Given the description of an element on the screen output the (x, y) to click on. 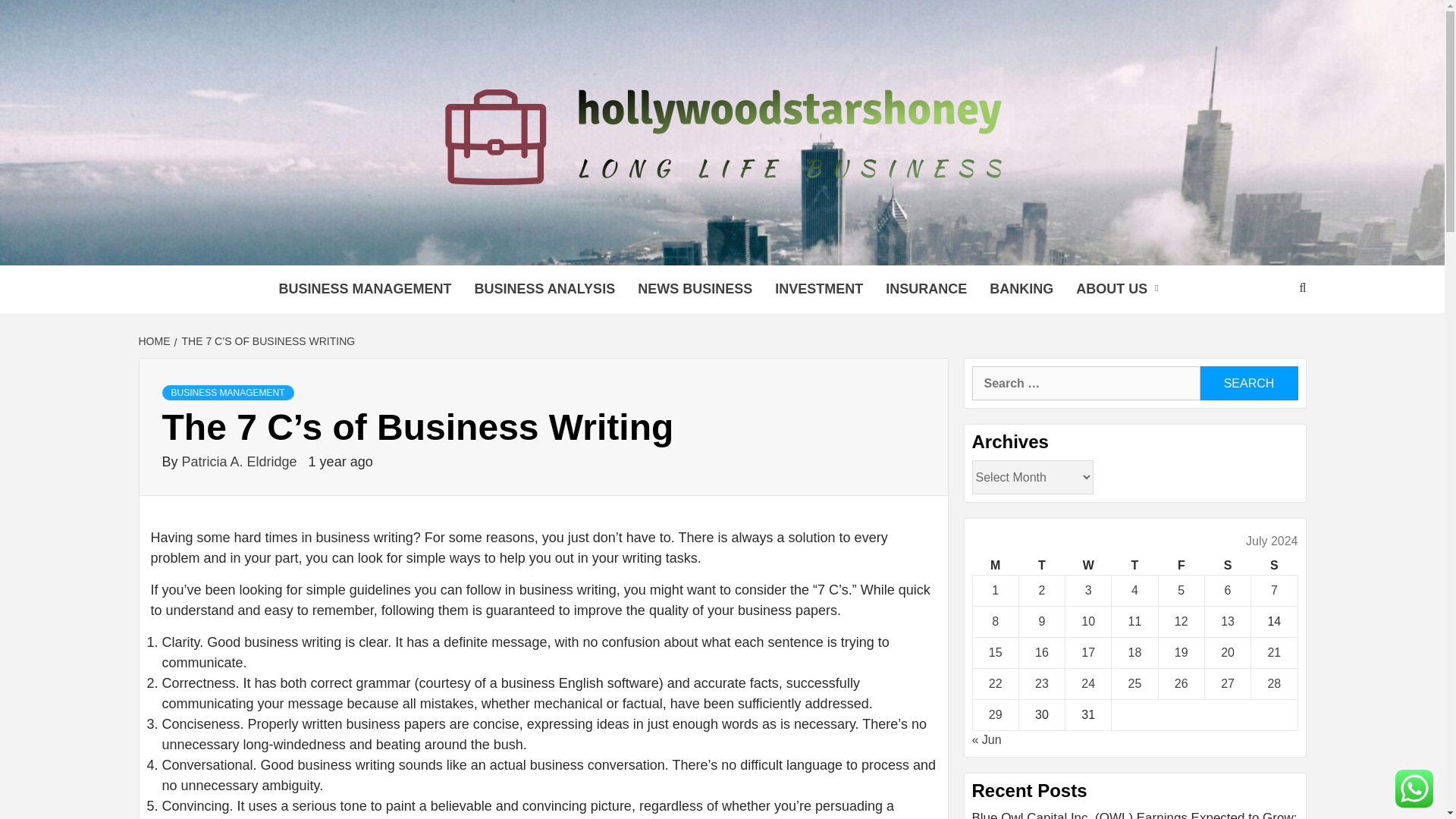
Monday (994, 565)
BUSINESS MANAGEMENT (227, 392)
11 (1134, 621)
Wednesday (1088, 565)
BANKING (1021, 288)
Patricia A. Eldridge (241, 461)
HOME (155, 340)
16 (1041, 652)
Saturday (1227, 565)
INSURANCE (926, 288)
BUSINESS MANAGEMENT (364, 288)
INVESTMENT (818, 288)
BUSINESS ANALYSIS (544, 288)
Search (1248, 383)
Friday (1180, 565)
